Given the description of an element on the screen output the (x, y) to click on. 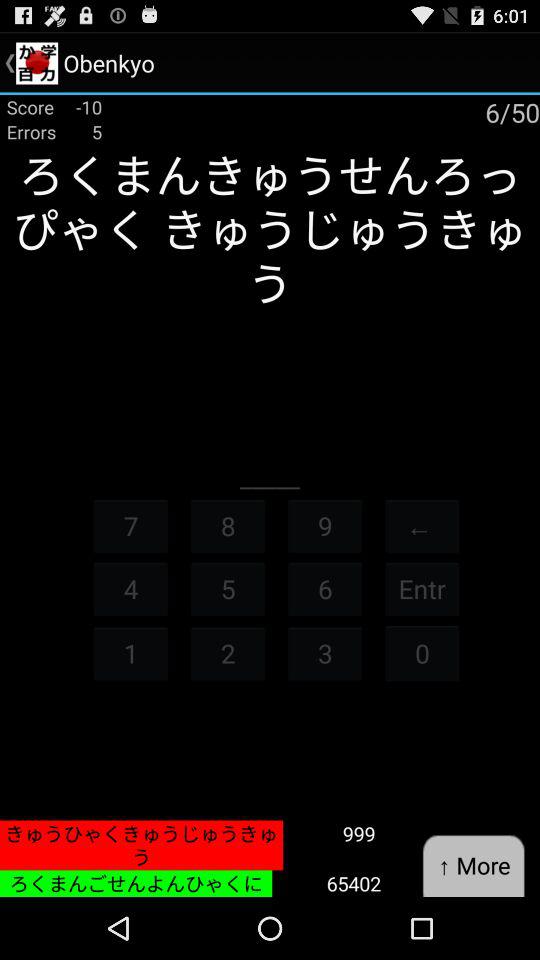
click the button below the 5 button (228, 652)
